Given the description of an element on the screen output the (x, y) to click on. 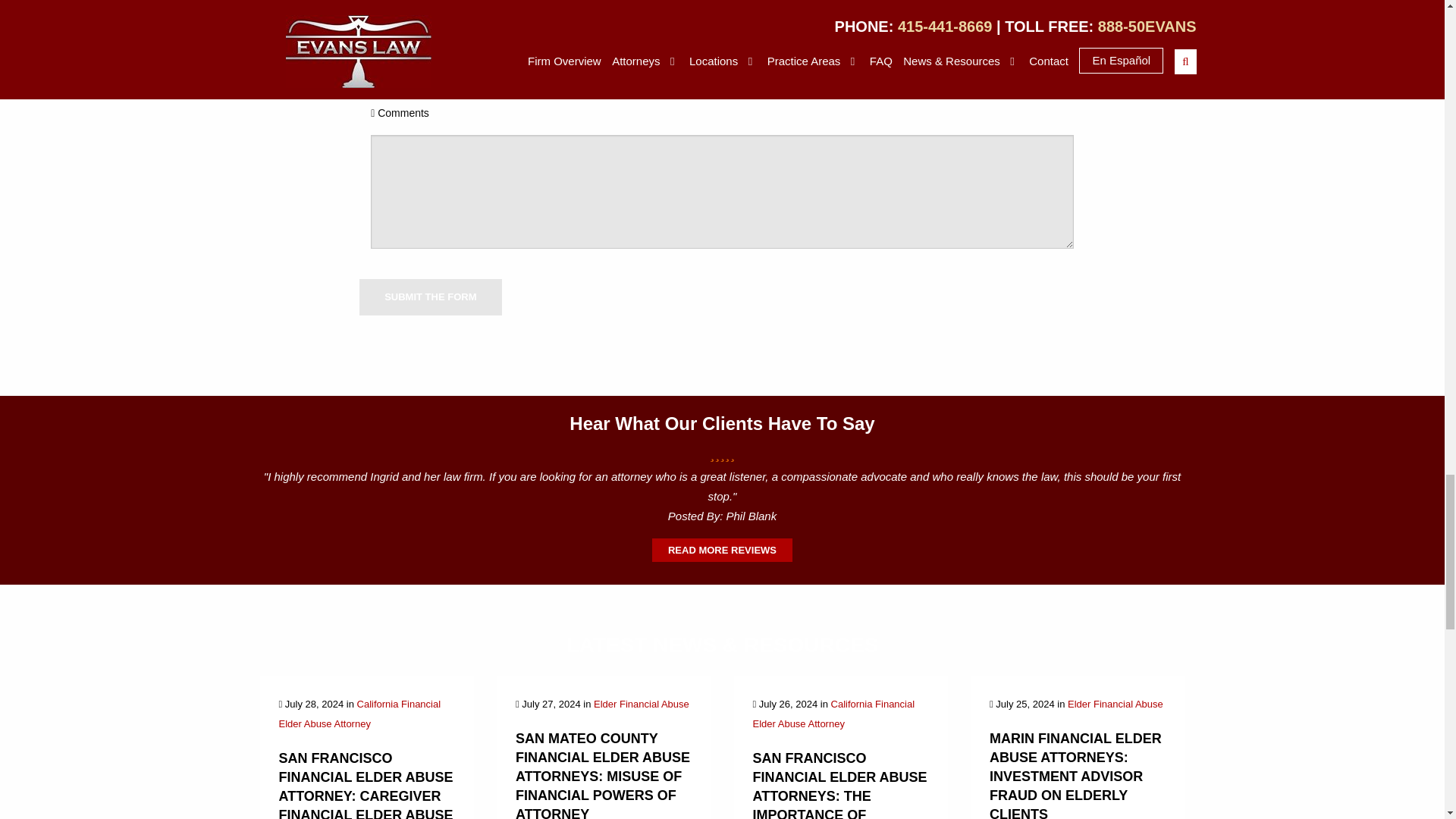
submit the form (429, 297)
